Given the description of an element on the screen output the (x, y) to click on. 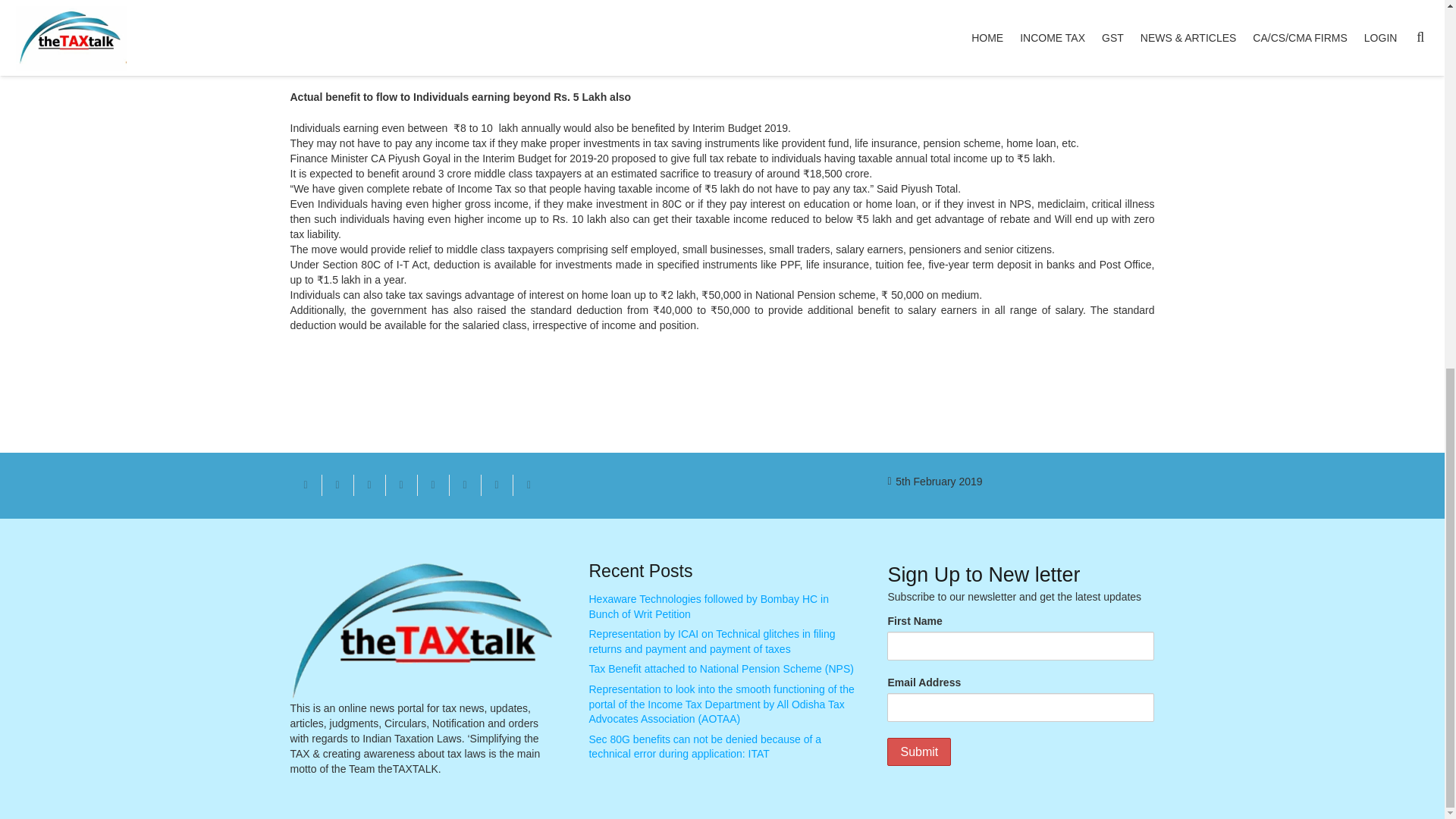
Pin this (432, 485)
Share this (528, 485)
Back to top (1413, 176)
Tweet this (369, 485)
Share this (496, 485)
Email this (305, 485)
Advertisement (946, 20)
Share this (400, 485)
Share this (337, 485)
Share this (464, 485)
Submit (918, 751)
